Given the description of an element on the screen output the (x, y) to click on. 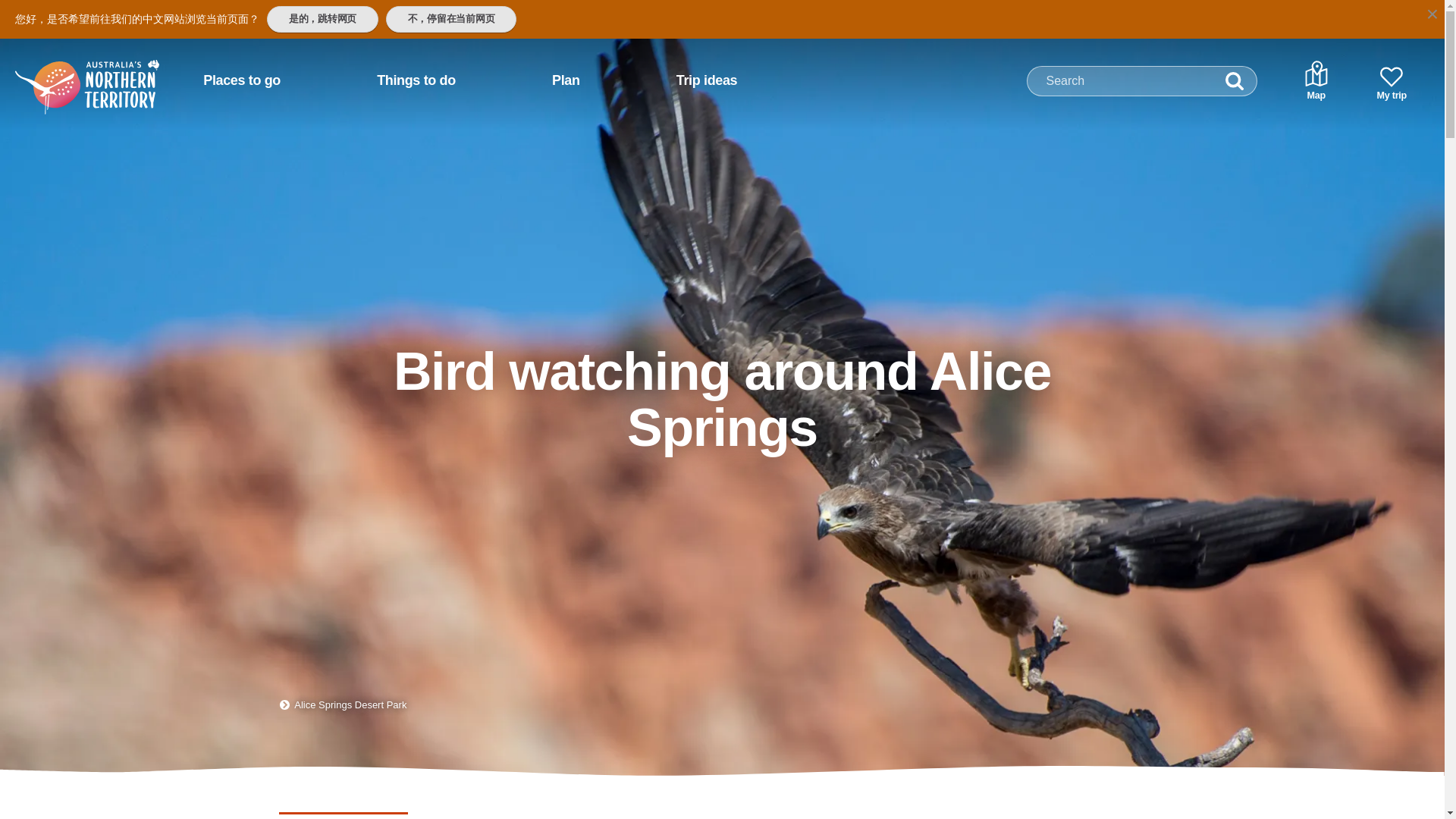
Search (1234, 81)
Places to go (241, 80)
Home (67, 73)
Things to do (416, 80)
